Given the description of an element on the screen output the (x, y) to click on. 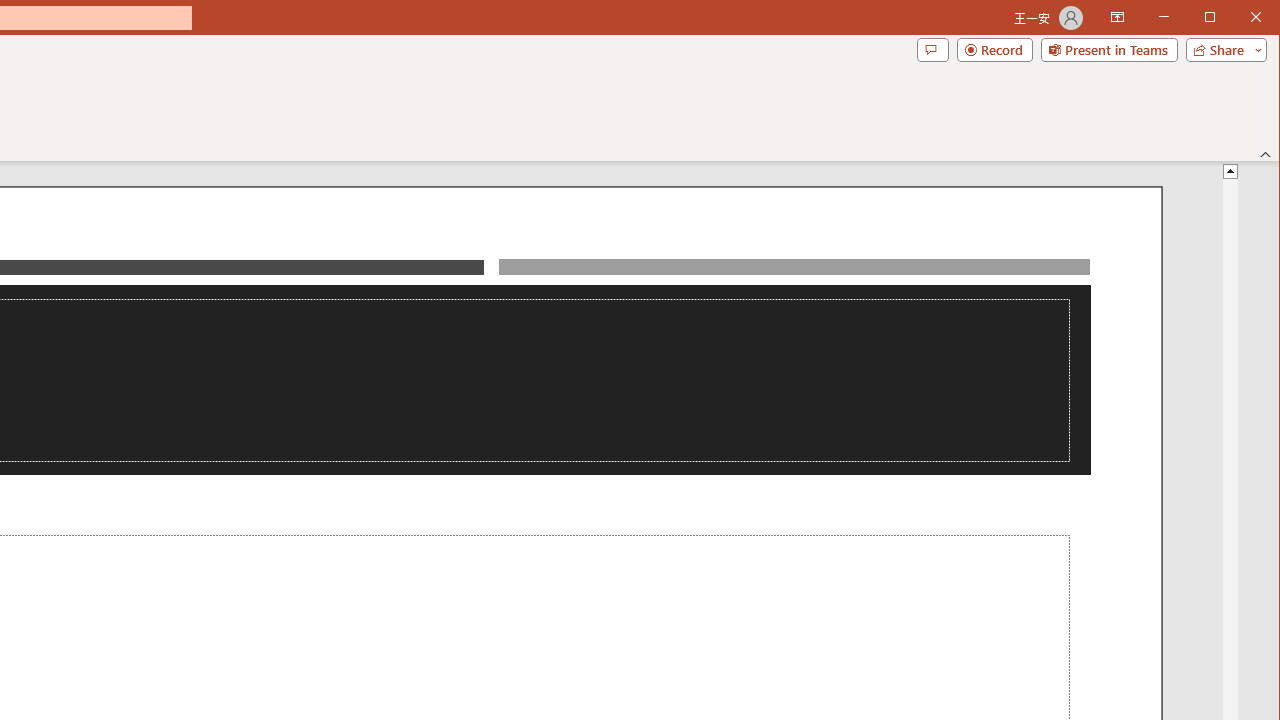
Line up (1230, 170)
Maximize (1238, 18)
Collapse the Ribbon (1266, 154)
